Given the description of an element on the screen output the (x, y) to click on. 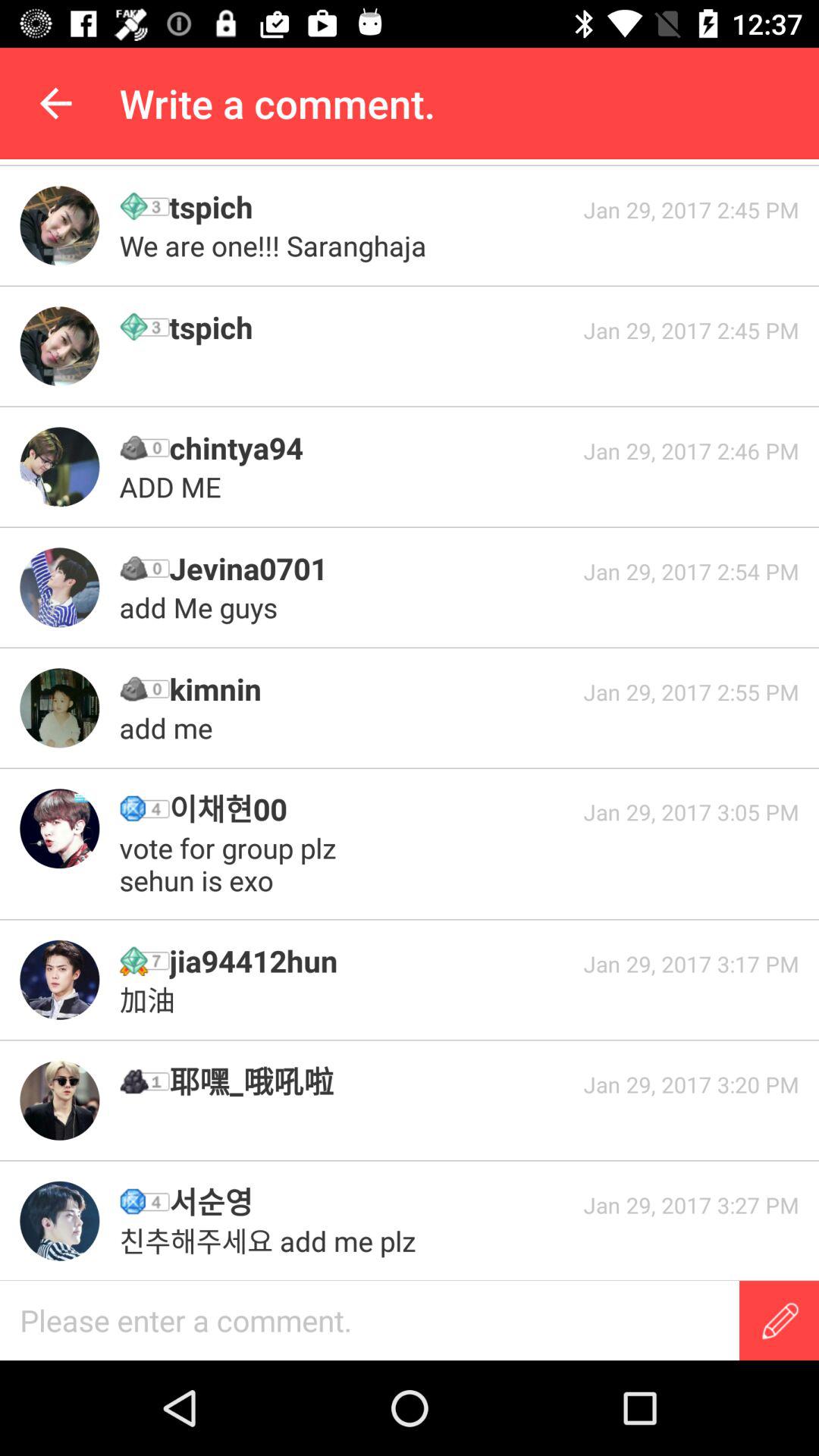
select icon next to jan 29 2017 icon (371, 808)
